Given the description of an element on the screen output the (x, y) to click on. 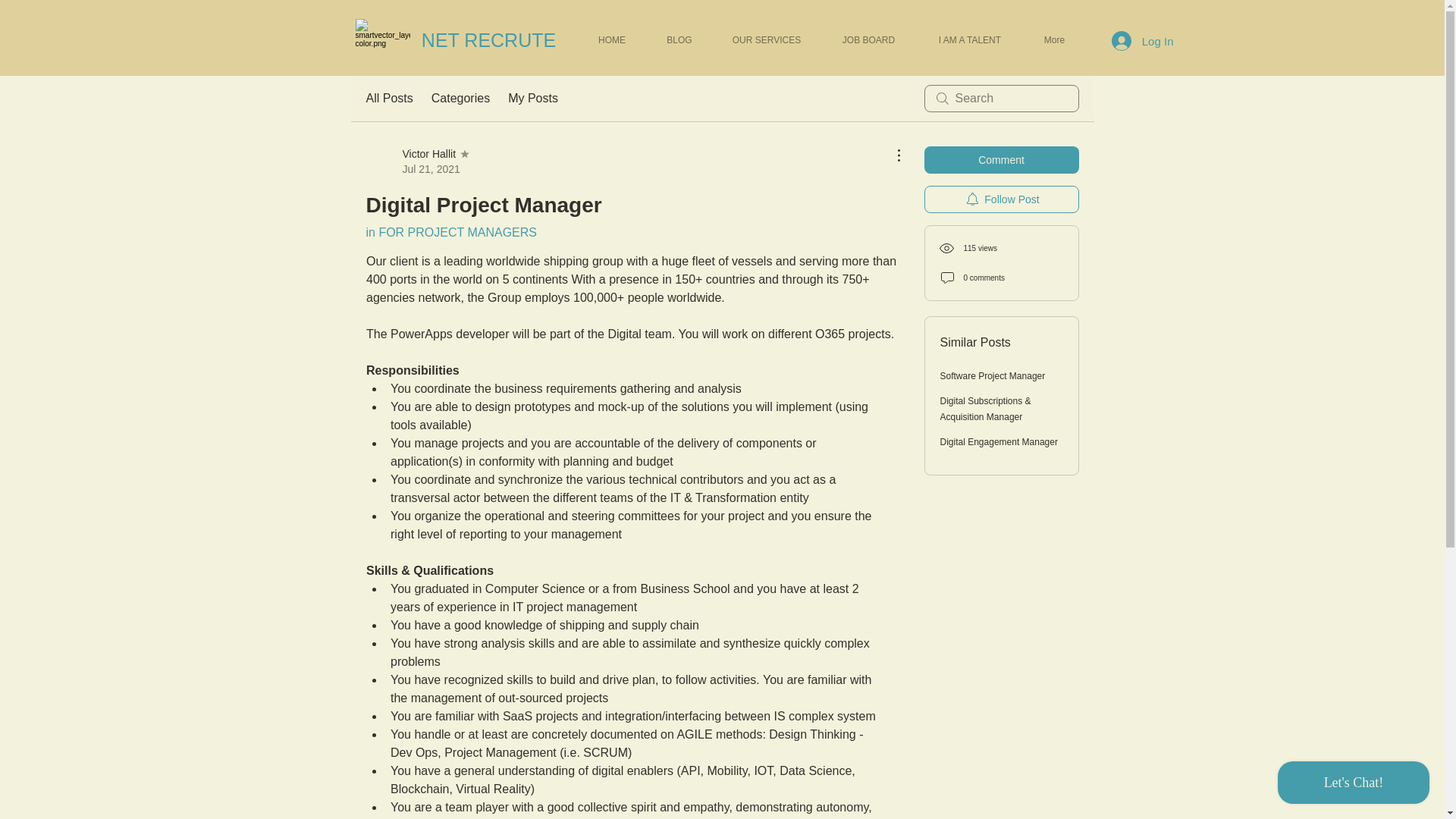
NET RECRUTE (488, 39)
in FOR PROJECT MANAGERS (451, 232)
Follow Post (1000, 198)
My Posts (532, 98)
OUR SERVICES (767, 39)
HOME (612, 39)
BLOG (678, 39)
JOB BOARD (868, 39)
Comment (417, 161)
Digital Engagement Manager (1000, 159)
Log In (999, 441)
All Posts (1142, 40)
I AM A TALENT (388, 98)
Categories (969, 39)
